Given the description of an element on the screen output the (x, y) to click on. 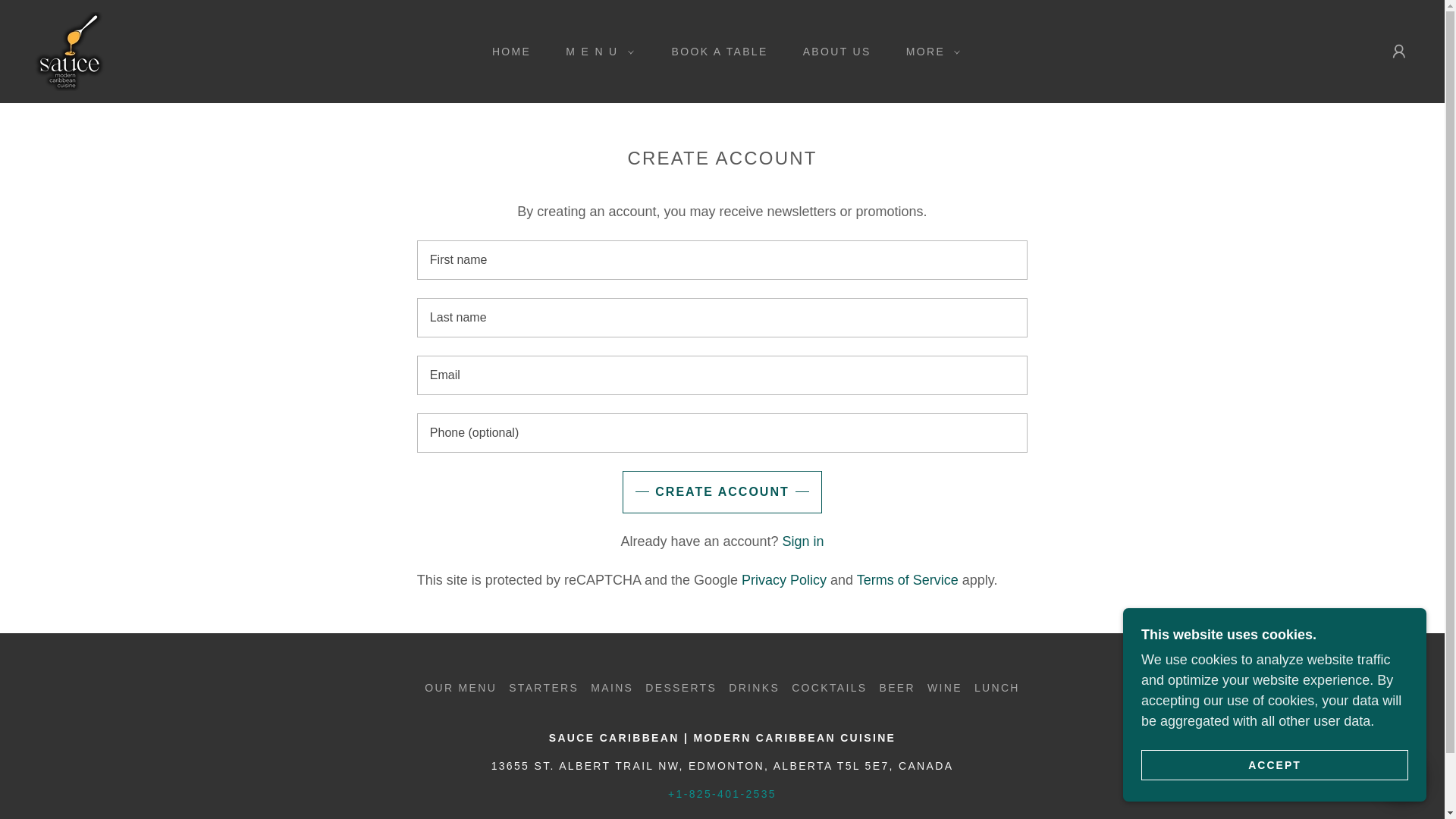
M E N U (595, 51)
ABOUT US (831, 51)
MORE (928, 51)
Sauce Caribbean Restaurant (69, 50)
BOOK A TABLE (714, 51)
HOME (506, 51)
